Given the description of an element on the screen output the (x, y) to click on. 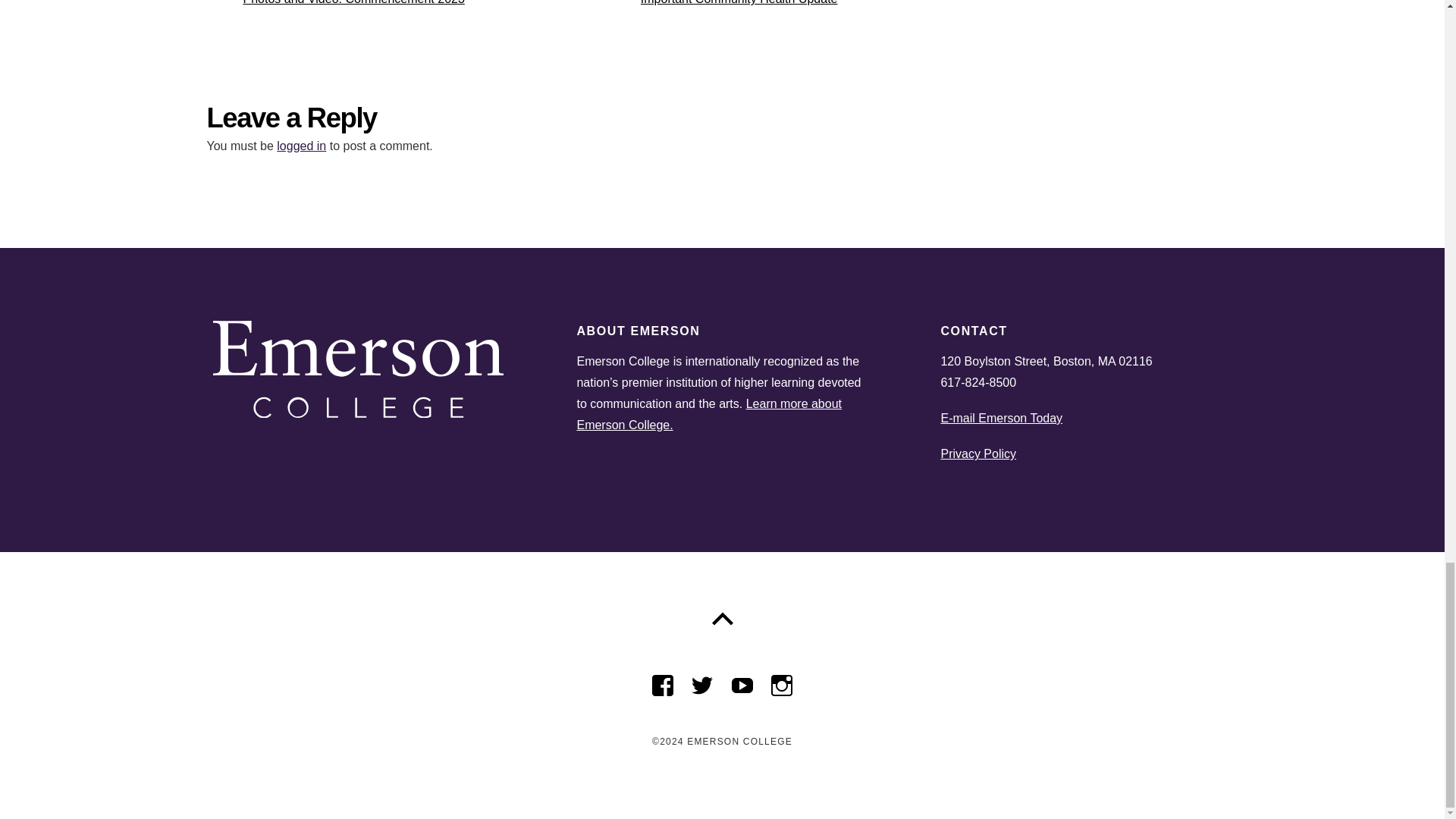
logged in (373, 13)
